Given the description of an element on the screen output the (x, y) to click on. 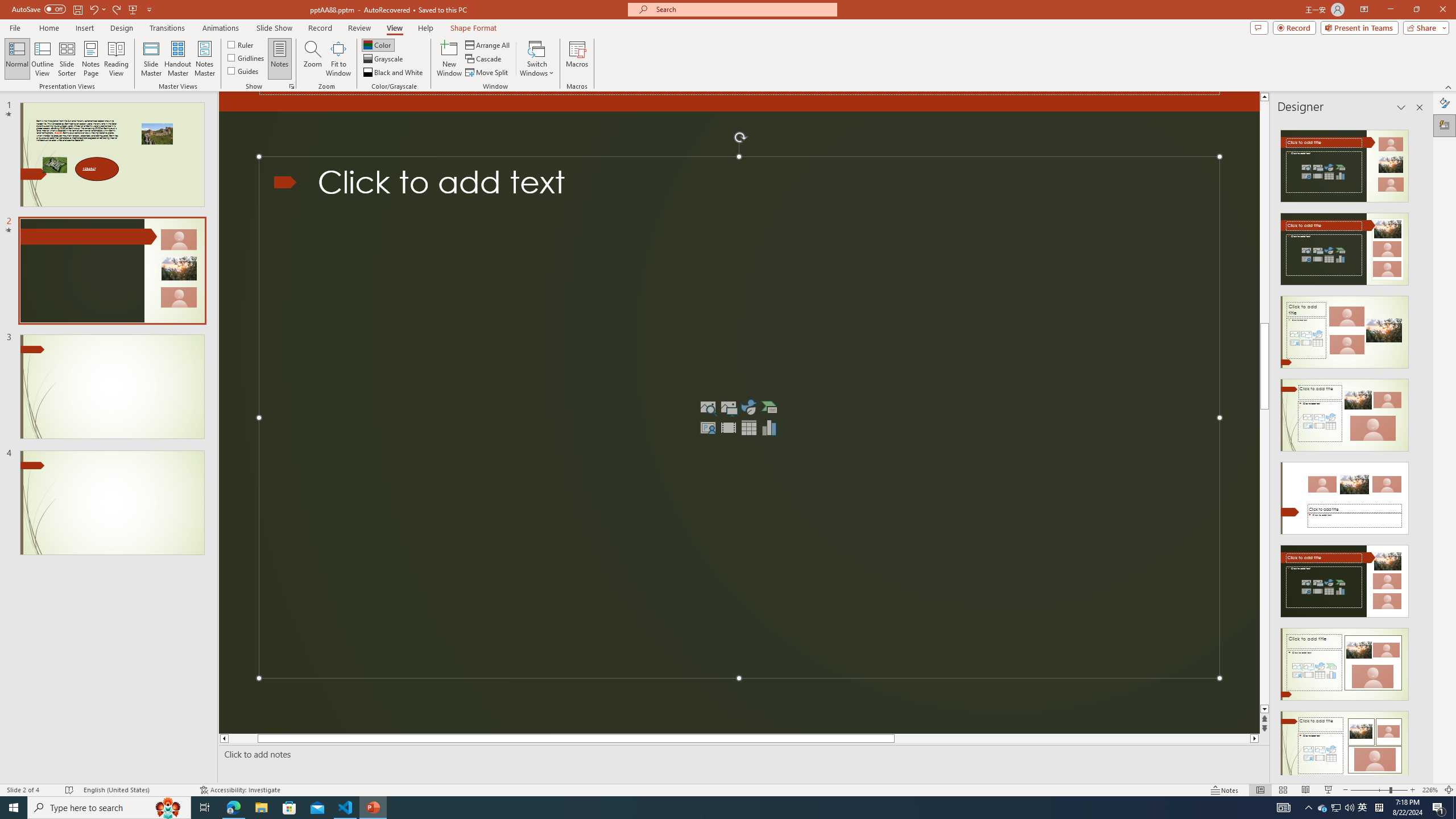
Color (377, 44)
Move Split (487, 72)
